Given the description of an element on the screen output the (x, y) to click on. 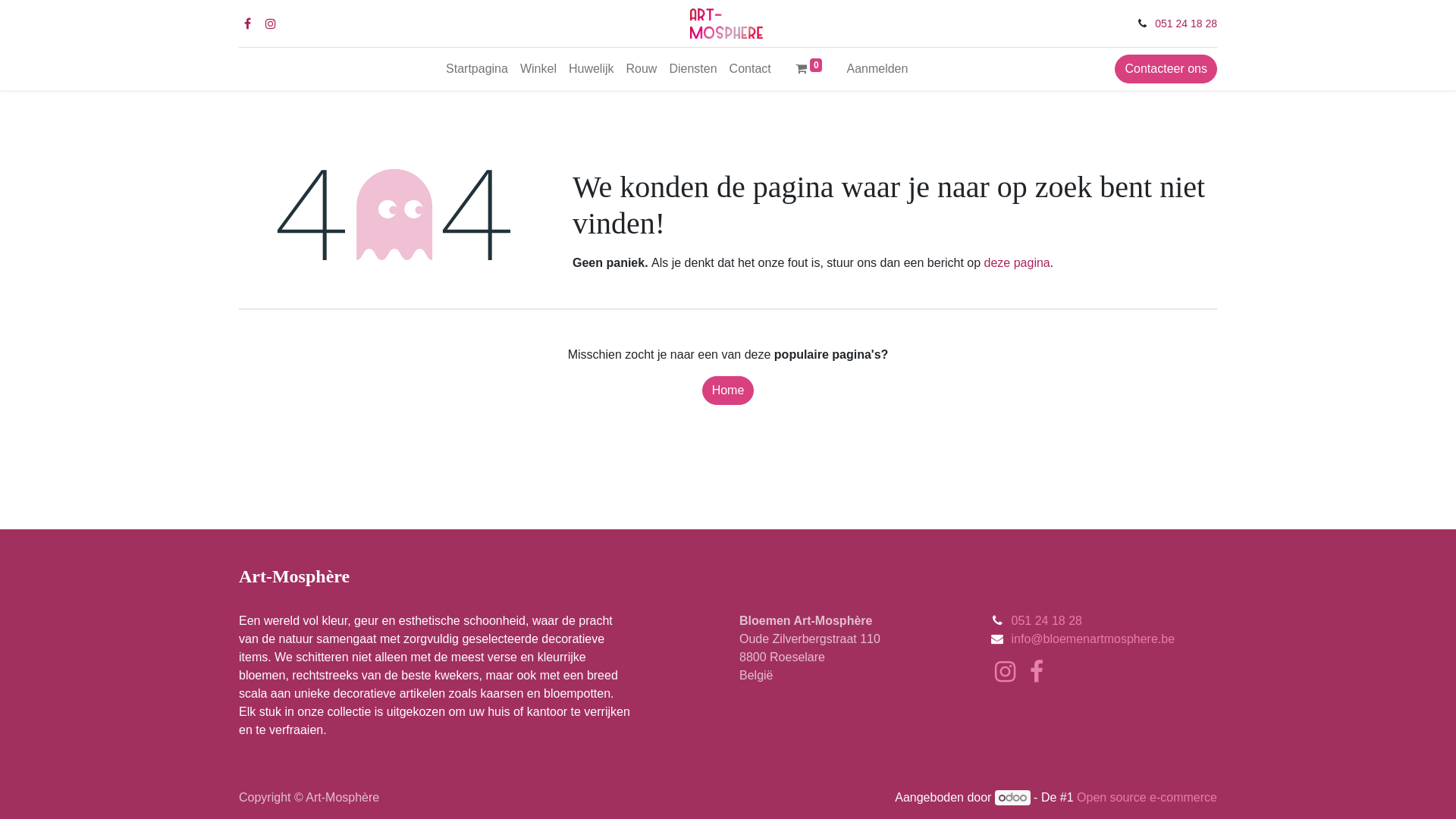
deze pagina Element type: text (1017, 262)
Rouw Element type: text (641, 68)
info@bloemenartmosphere.be Element type: text (1092, 638)
Aanmelden Element type: text (876, 68)
Open source e-commerce Element type: text (1146, 796)
051 24 18 28 Element type: text (1046, 620)
Startpagina Element type: text (476, 68)
Winkel Element type: text (538, 68)
Contact Element type: text (750, 68)
Diensten Element type: text (692, 68)
0 Element type: text (808, 68)
Home Element type: text (728, 390)
051 24 18 28 Element type: text (1185, 23)
Huwelijk Element type: text (591, 68)
Contacteer ons Element type: text (1165, 68)
